Given the description of an element on the screen output the (x, y) to click on. 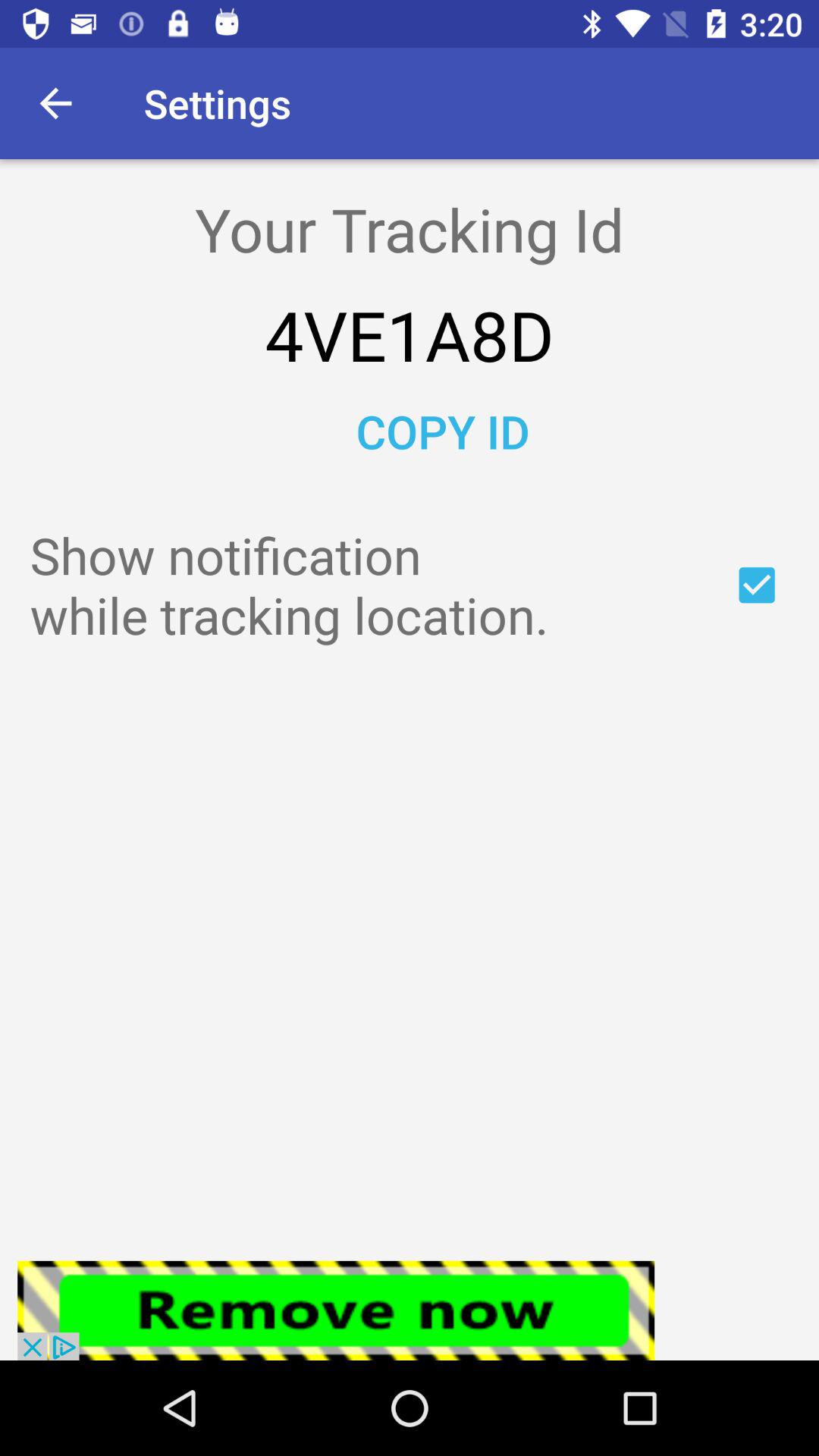
yes or no on locations (756, 585)
